Given the description of an element on the screen output the (x, y) to click on. 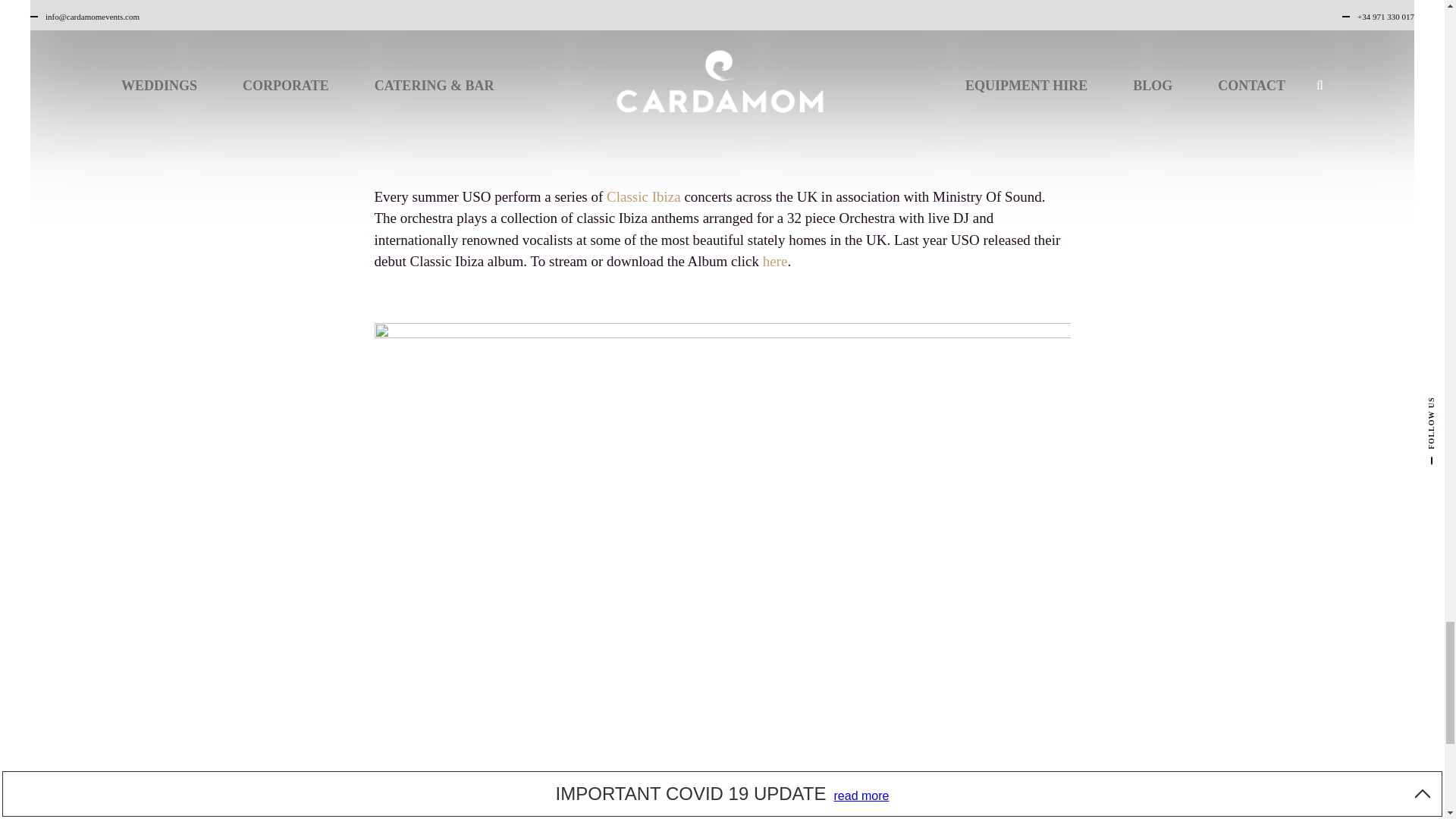
here (774, 261)
Acoustic Ensemble (926, 811)
DJ Sets (704, 811)
Chill Out Set (585, 811)
Classic Ibiza (644, 196)
Electric String Quartet (798, 811)
DJ Live (653, 811)
Jazz Band (1019, 811)
